Given the description of an element on the screen output the (x, y) to click on. 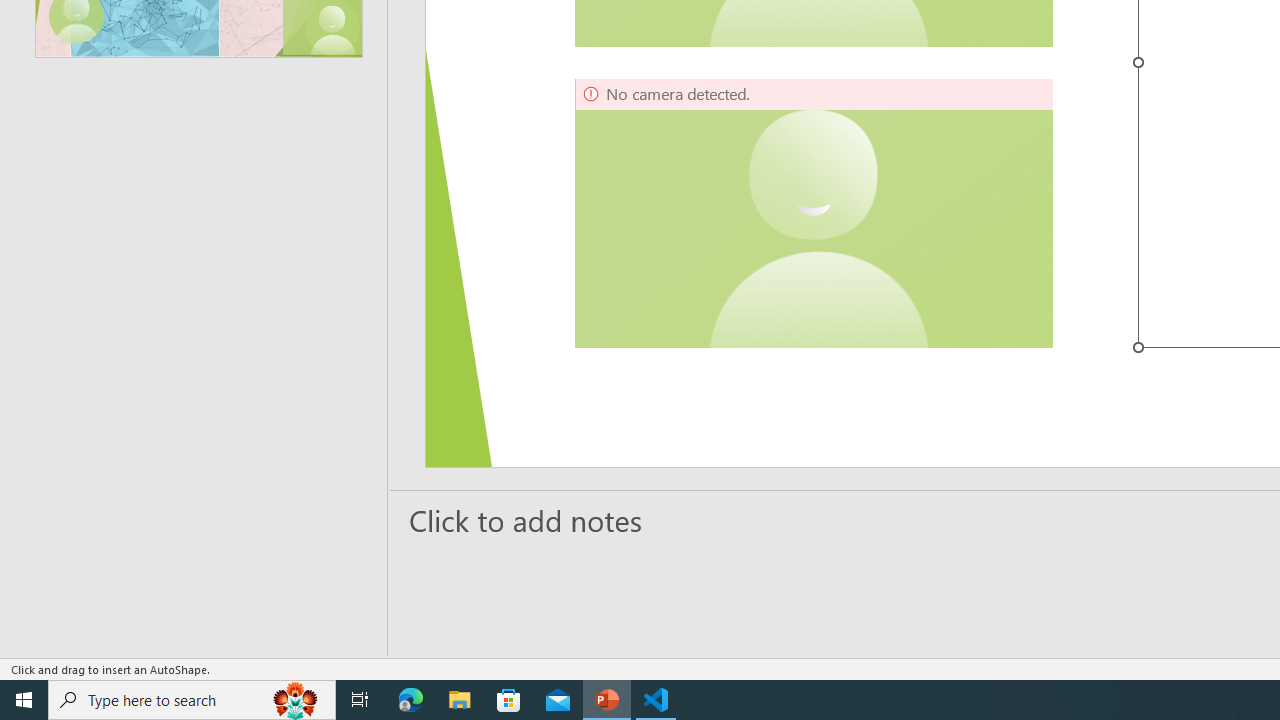
Camera 5, No camera detected. (813, 213)
